Given the description of an element on the screen output the (x, y) to click on. 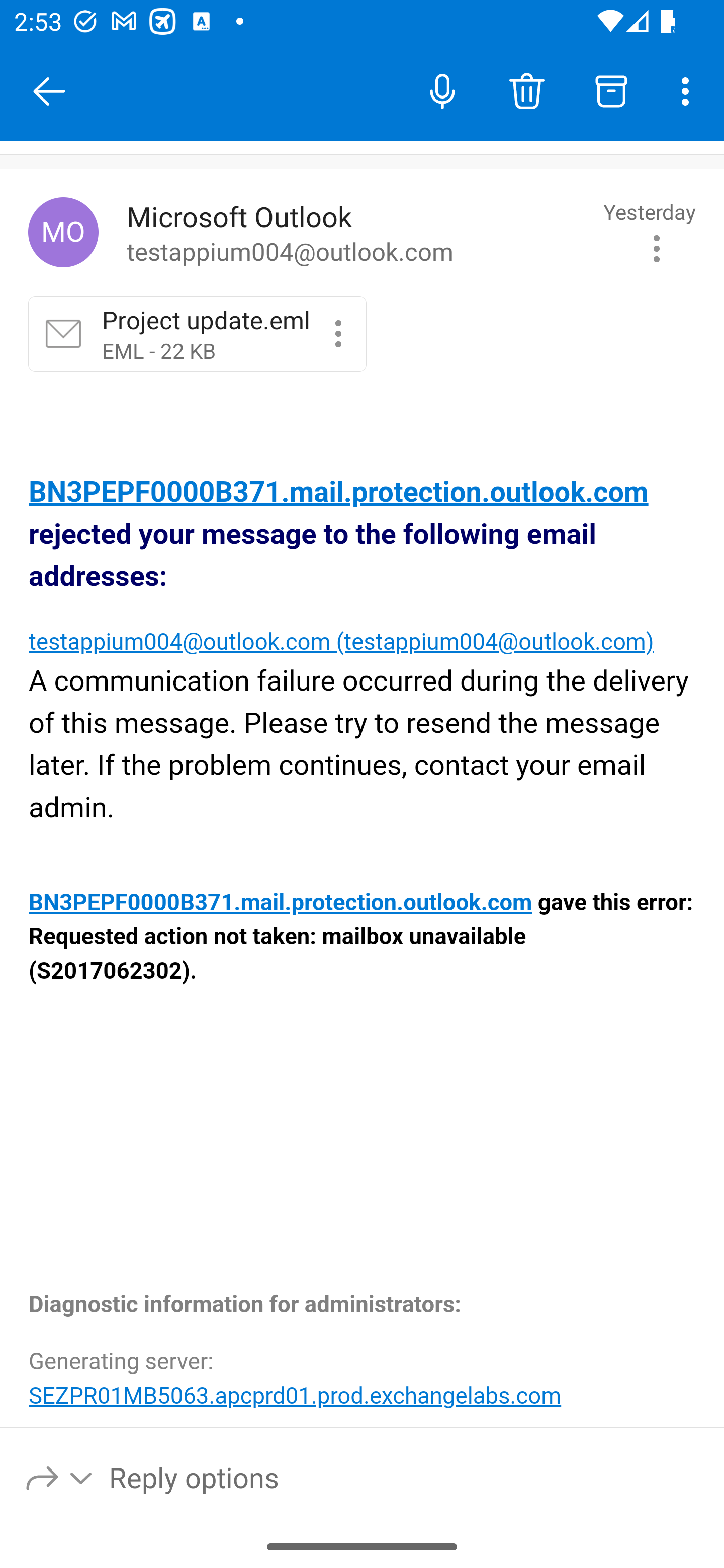
Close (49, 91)
Delete (526, 90)
Archive (611, 90)
More options (688, 90)
Microsoft Outlook
to testappium004@outlook.com (357, 232)
Message actions (656, 248)
Project update.eml (338, 333)
BN3PEPF0000B371.mail.protection.outlook.com (338, 492)
BN3PEPF0000B371.mail.protection.outlook.com (280, 903)
SEZPR01MB5063.apcprd01.prod.exchangelabs.com (294, 1395)
Reply options (59, 1476)
